Given the description of an element on the screen output the (x, y) to click on. 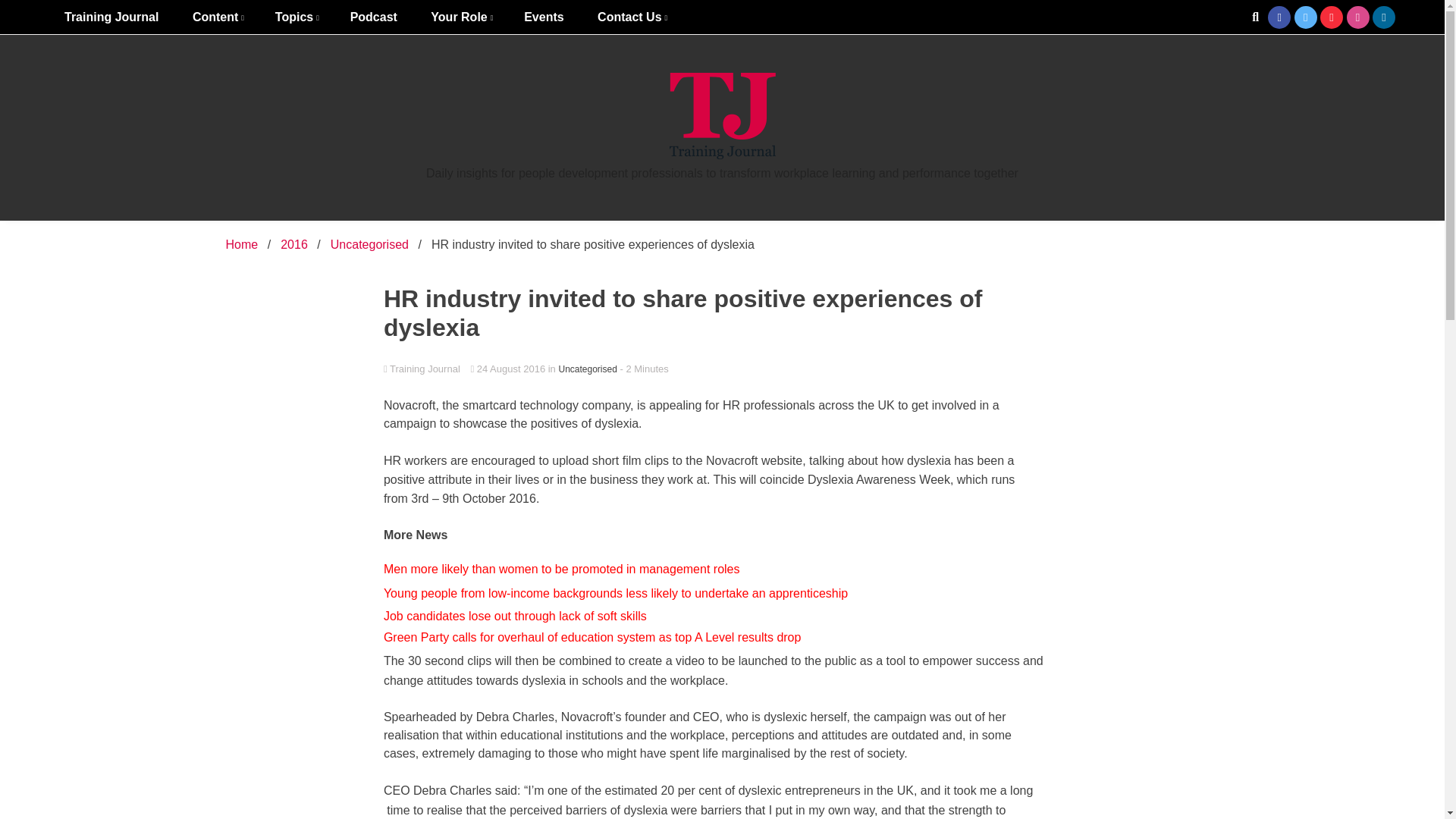
Your Role (459, 17)
Events (543, 17)
Podcast (373, 17)
Training Journal (111, 17)
Topics (295, 17)
Content (216, 17)
Estimated Reading Time of Article (644, 368)
